Given the description of an element on the screen output the (x, y) to click on. 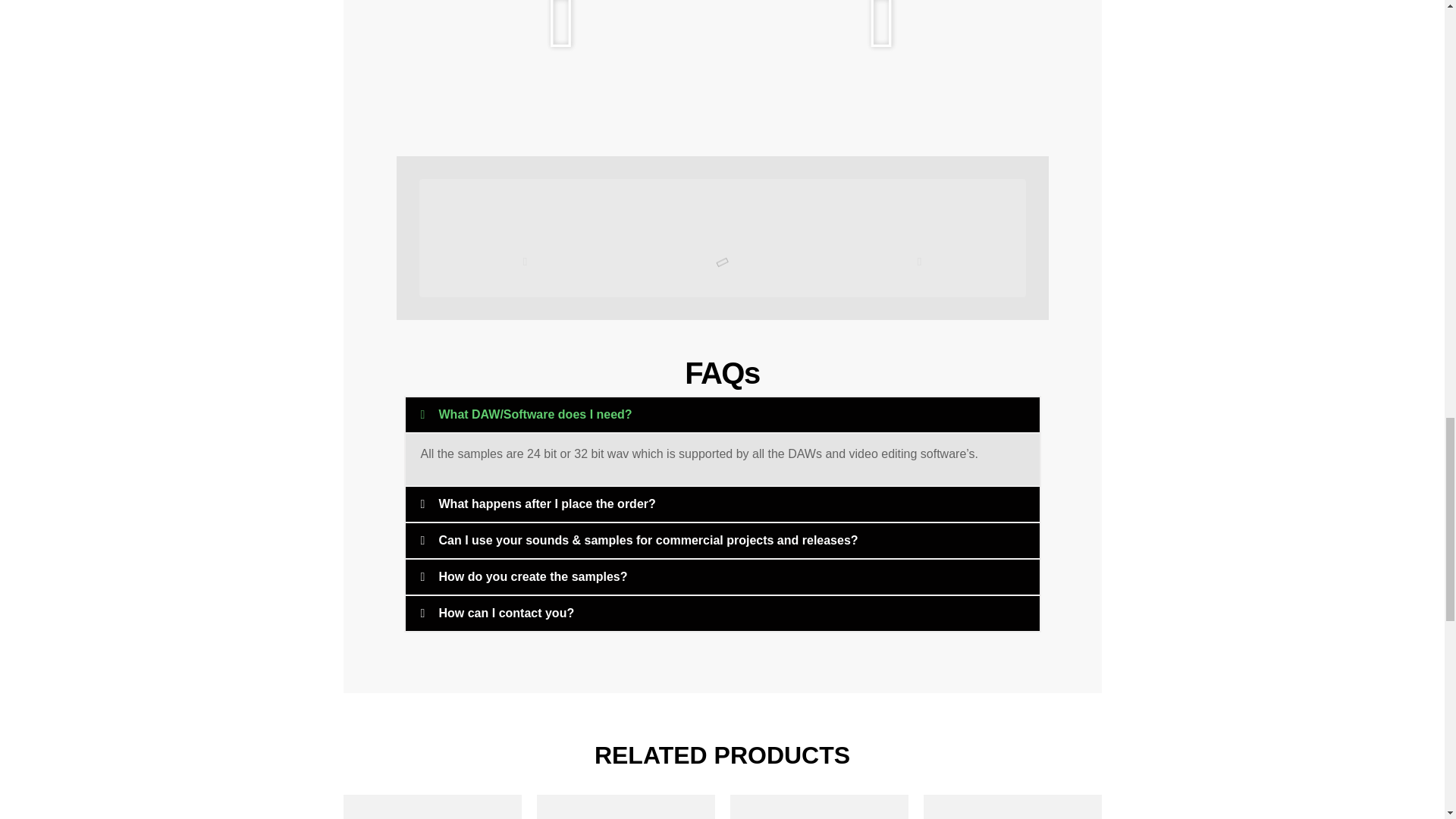
How do you create the samples? (532, 576)
What happens after I place the order? (546, 503)
How can I contact you? (505, 612)
